Given the description of an element on the screen output the (x, y) to click on. 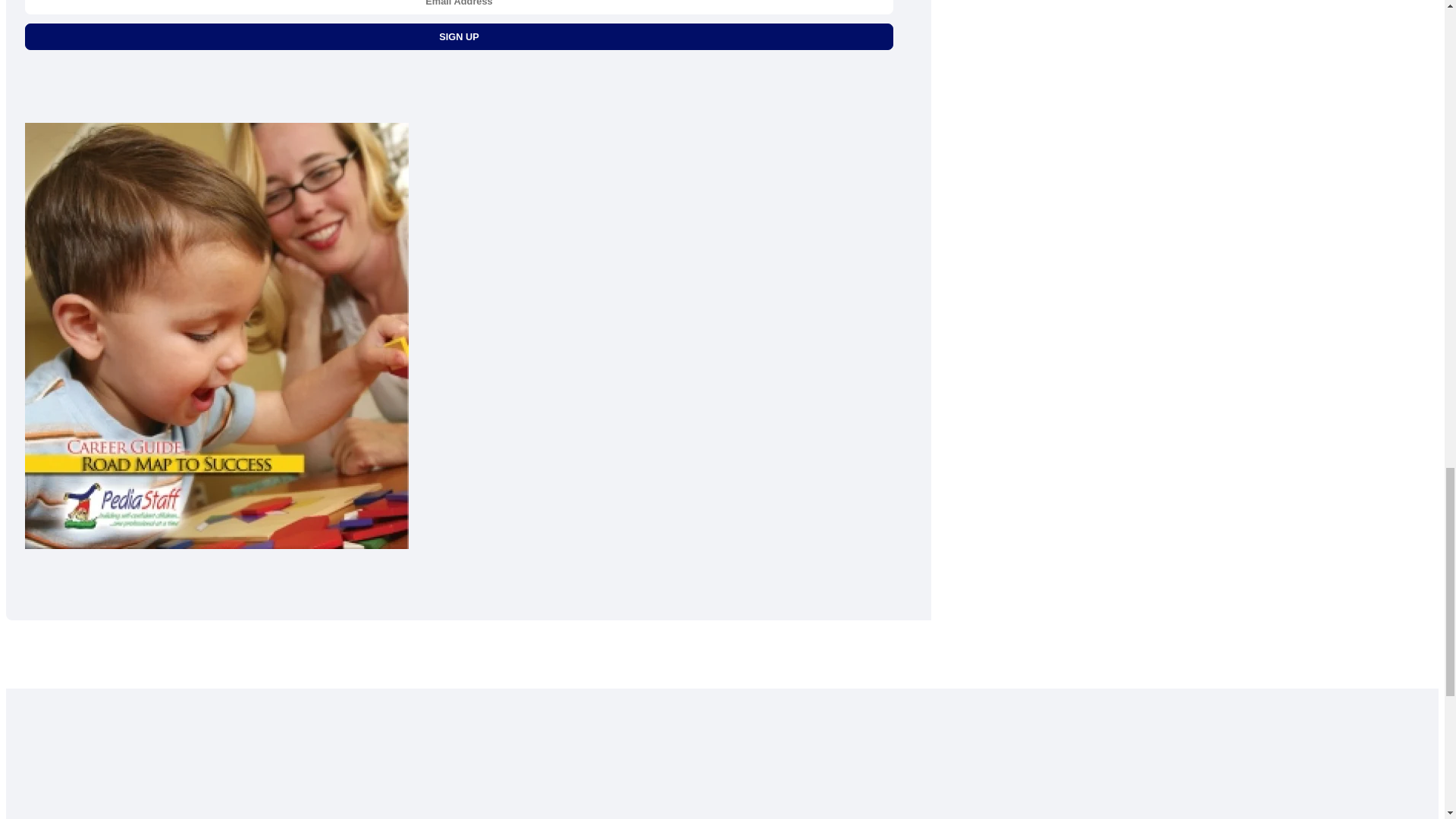
SIGN UP (458, 36)
